Given the description of an element on the screen output the (x, y) to click on. 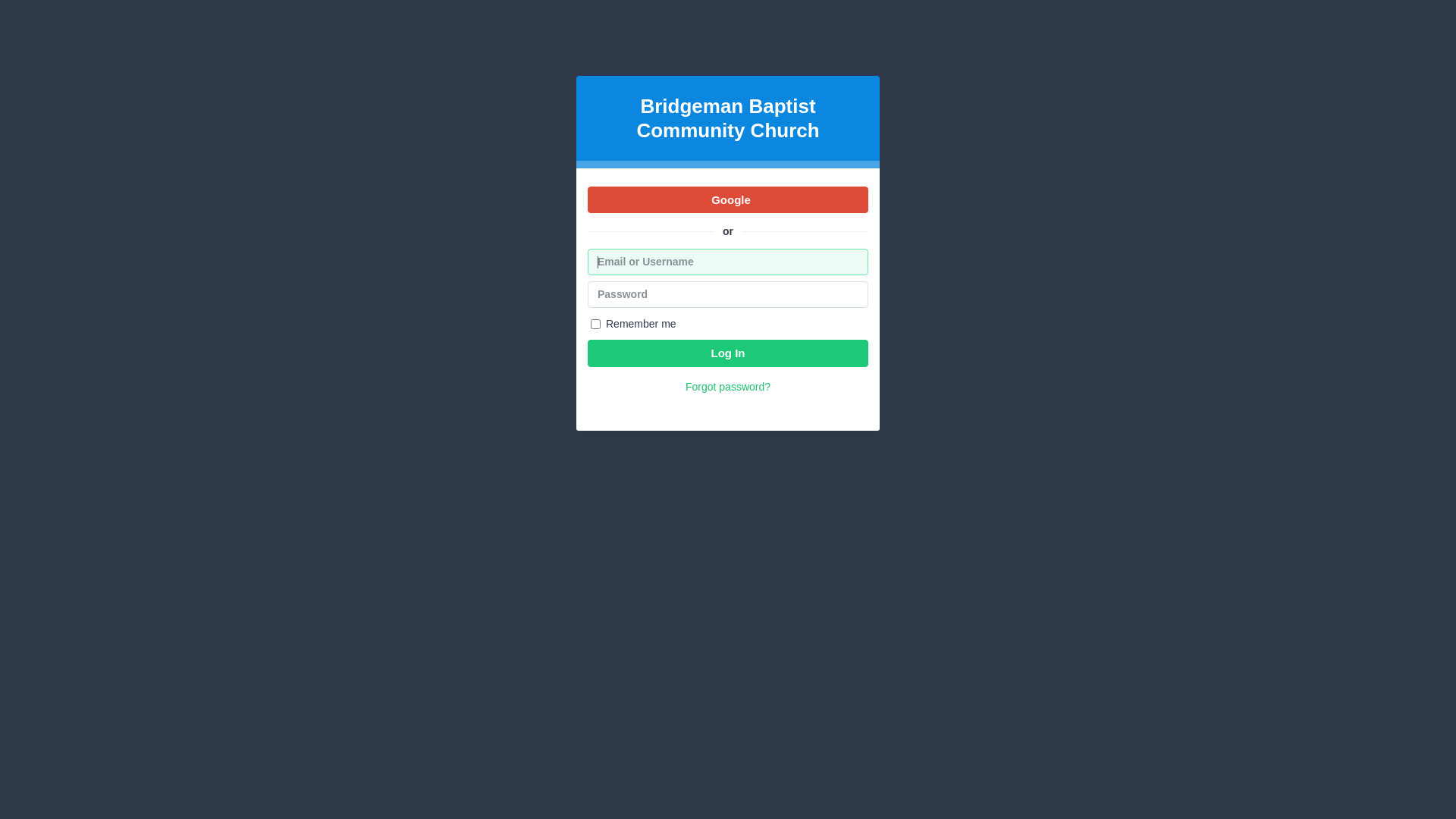
Log In Element type: text (727, 352)
Google Element type: text (727, 199)
Forgot password? Element type: text (727, 386)
